Given the description of an element on the screen output the (x, y) to click on. 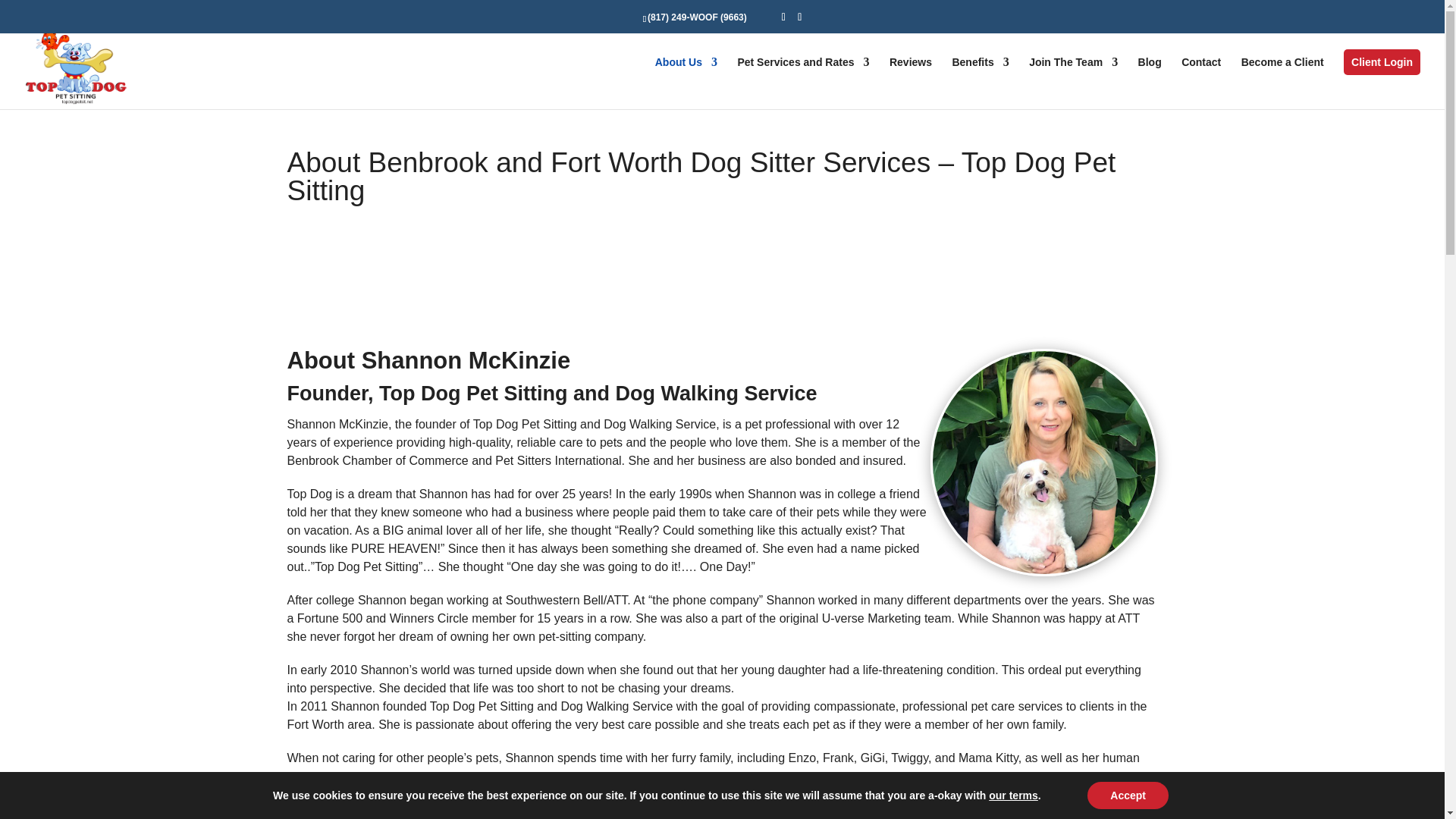
Contact (1200, 75)
Client Login (1382, 62)
Join The Team (1073, 75)
Become a Client (1282, 75)
Pet Services and Rates (802, 75)
Benefits (980, 75)
Reviews (910, 75)
About Us (686, 75)
